Given the description of an element on the screen output the (x, y) to click on. 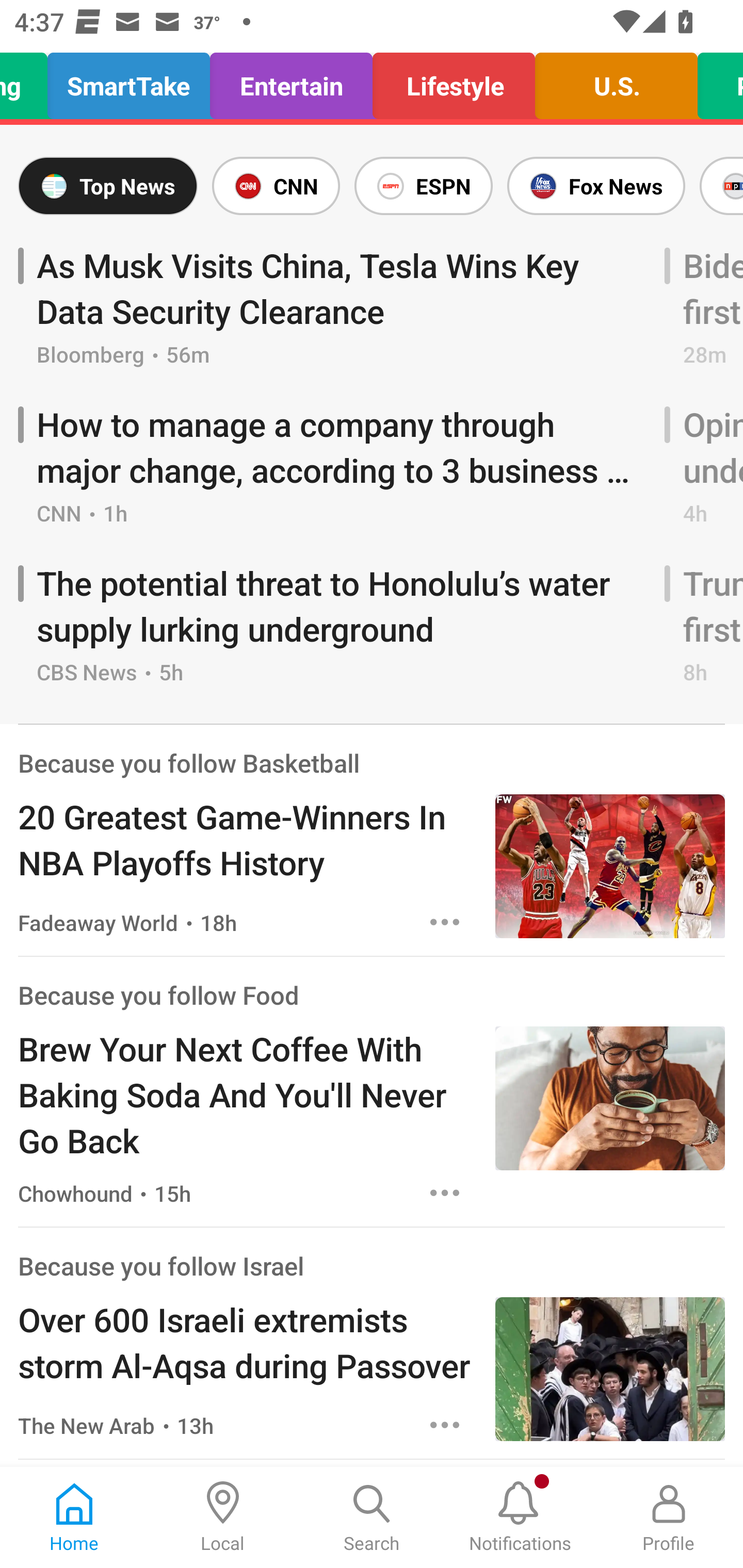
SmartTake (128, 81)
Entertain (291, 81)
Lifestyle (453, 81)
U.S. (616, 81)
CNN (275, 185)
ESPN (423, 185)
Fox News (596, 185)
Because you follow Basketball (188, 762)
Options (444, 921)
Because you follow Food (158, 994)
Options (444, 1193)
Because you follow Israel (160, 1265)
Options (444, 1425)
Local (222, 1517)
Search (371, 1517)
Notifications, New notification Notifications (519, 1517)
Profile (668, 1517)
